Given the description of an element on the screen output the (x, y) to click on. 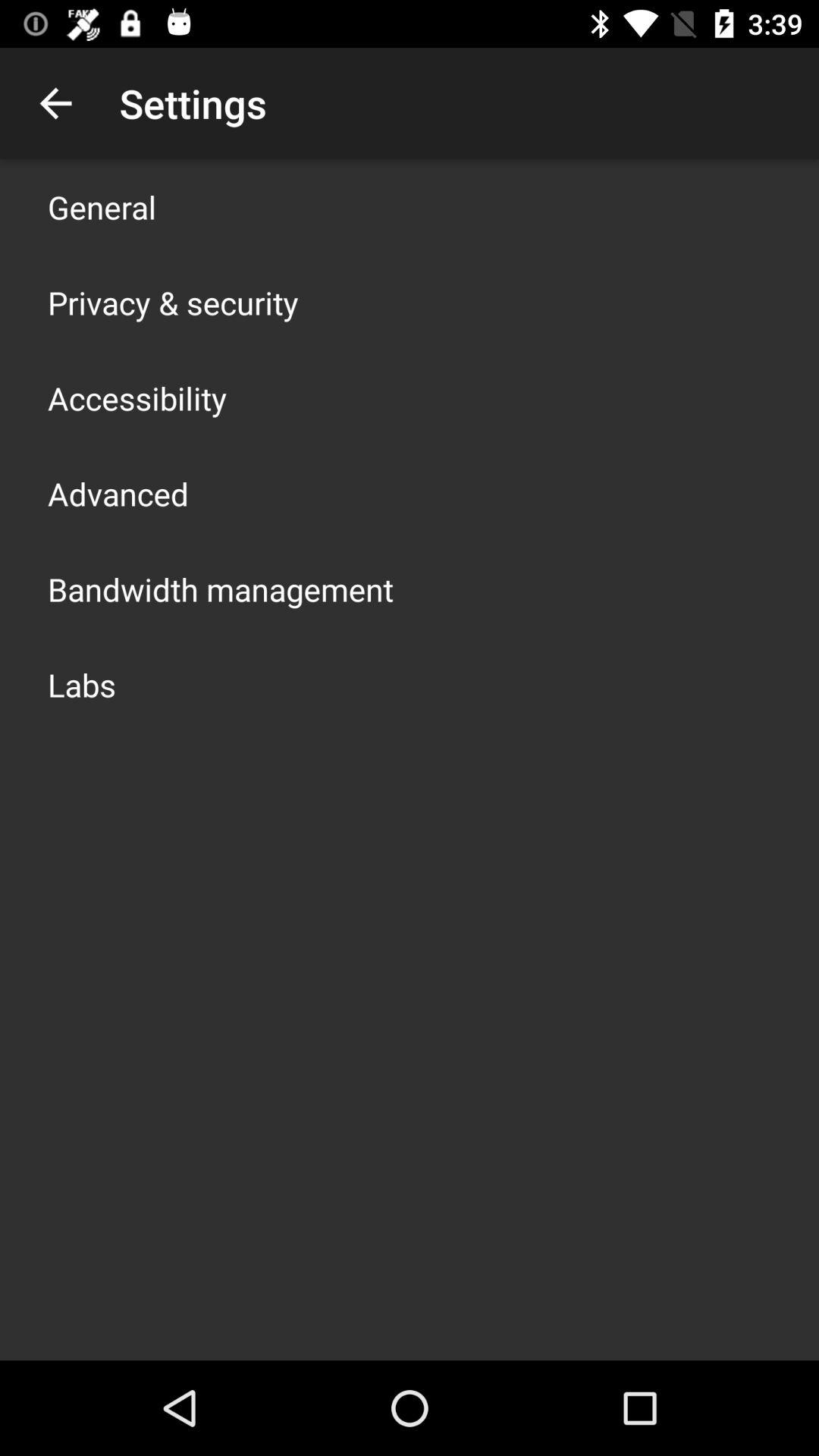
select the app above the accessibility item (172, 302)
